Given the description of an element on the screen output the (x, y) to click on. 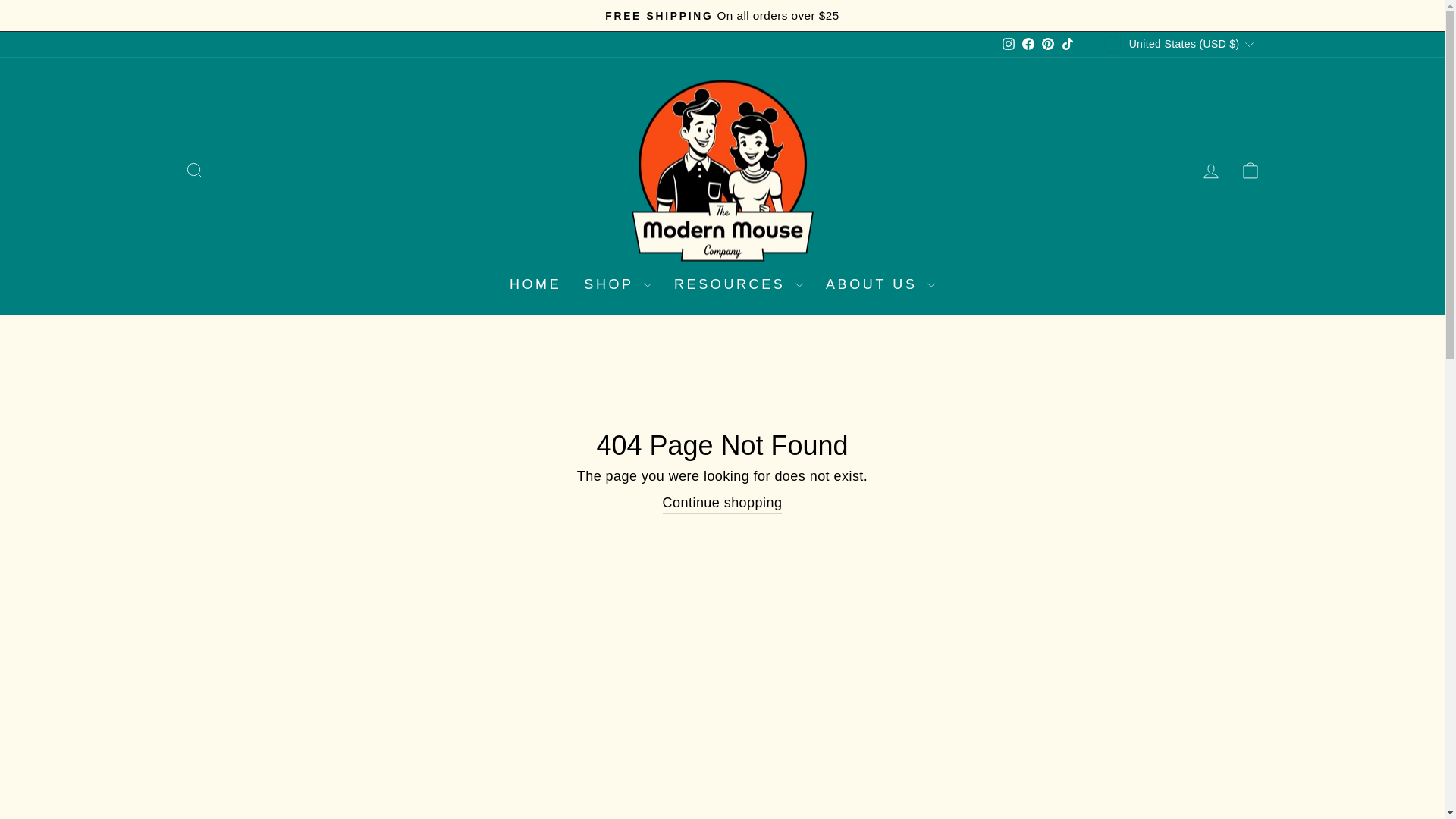
ACCOUNT (1210, 170)
instagram (1008, 43)
ICON-SEARCH (194, 169)
ICON-BAG-MINIMAL (1249, 169)
